Given the description of an element on the screen output the (x, y) to click on. 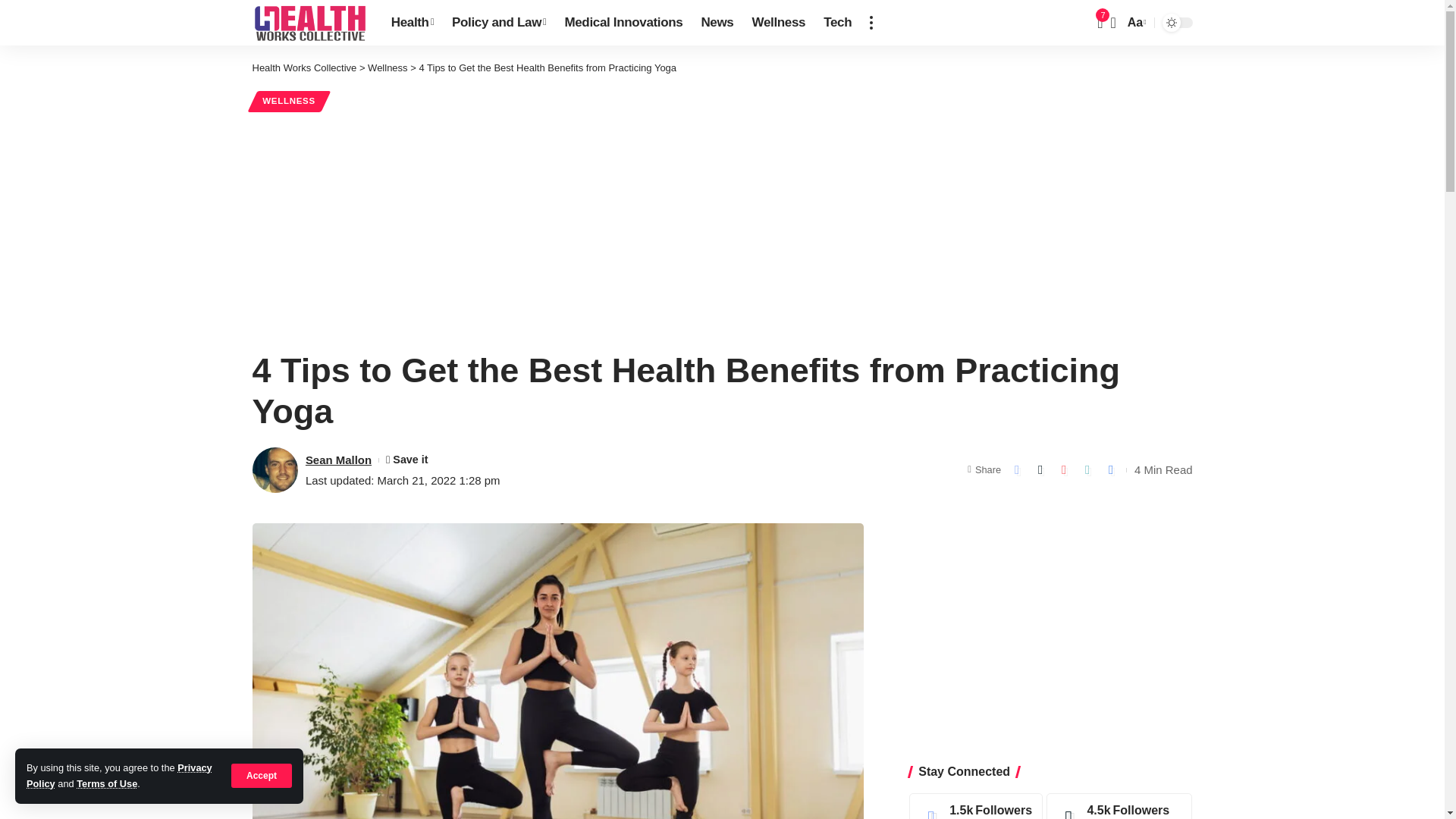
Medical Innovations (622, 22)
Policy and Law (498, 22)
Privacy Policy (119, 775)
Accept (261, 775)
Tech (836, 22)
News (716, 22)
Health (411, 22)
Health Works Collective (308, 22)
Go to Health Works Collective. (303, 67)
Terms of Use (106, 783)
Wellness (778, 22)
